Given the description of an element on the screen output the (x, y) to click on. 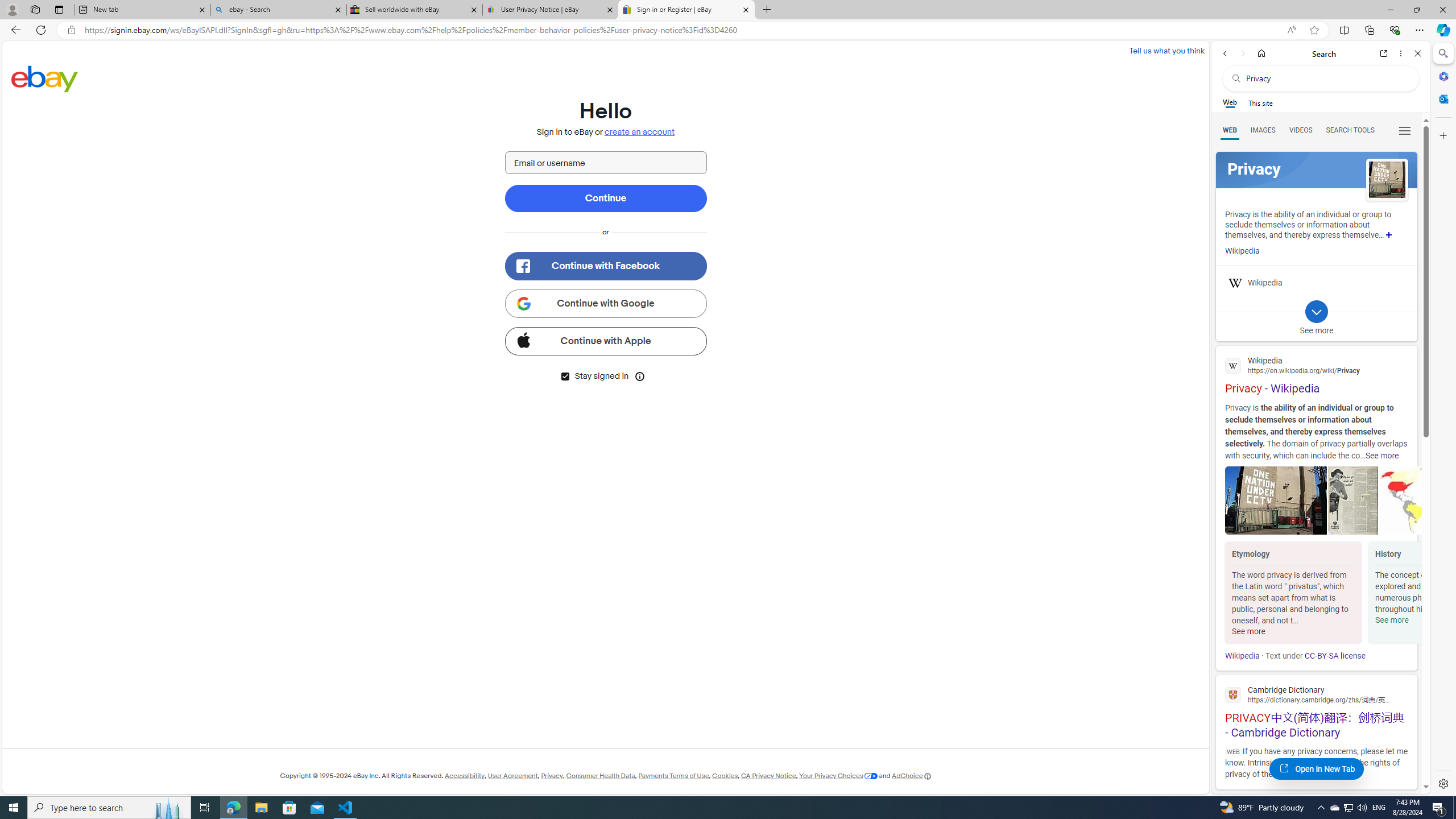
Search the web (1326, 78)
Search Filter, IMAGES (1262, 129)
create an account (639, 131)
Class: b_exp_chevron_svg b_expmob_chev (1315, 311)
Class: b_serphb (1404, 130)
Cookies (724, 775)
AdChoice (911, 775)
